Given the description of an element on the screen output the (x, y) to click on. 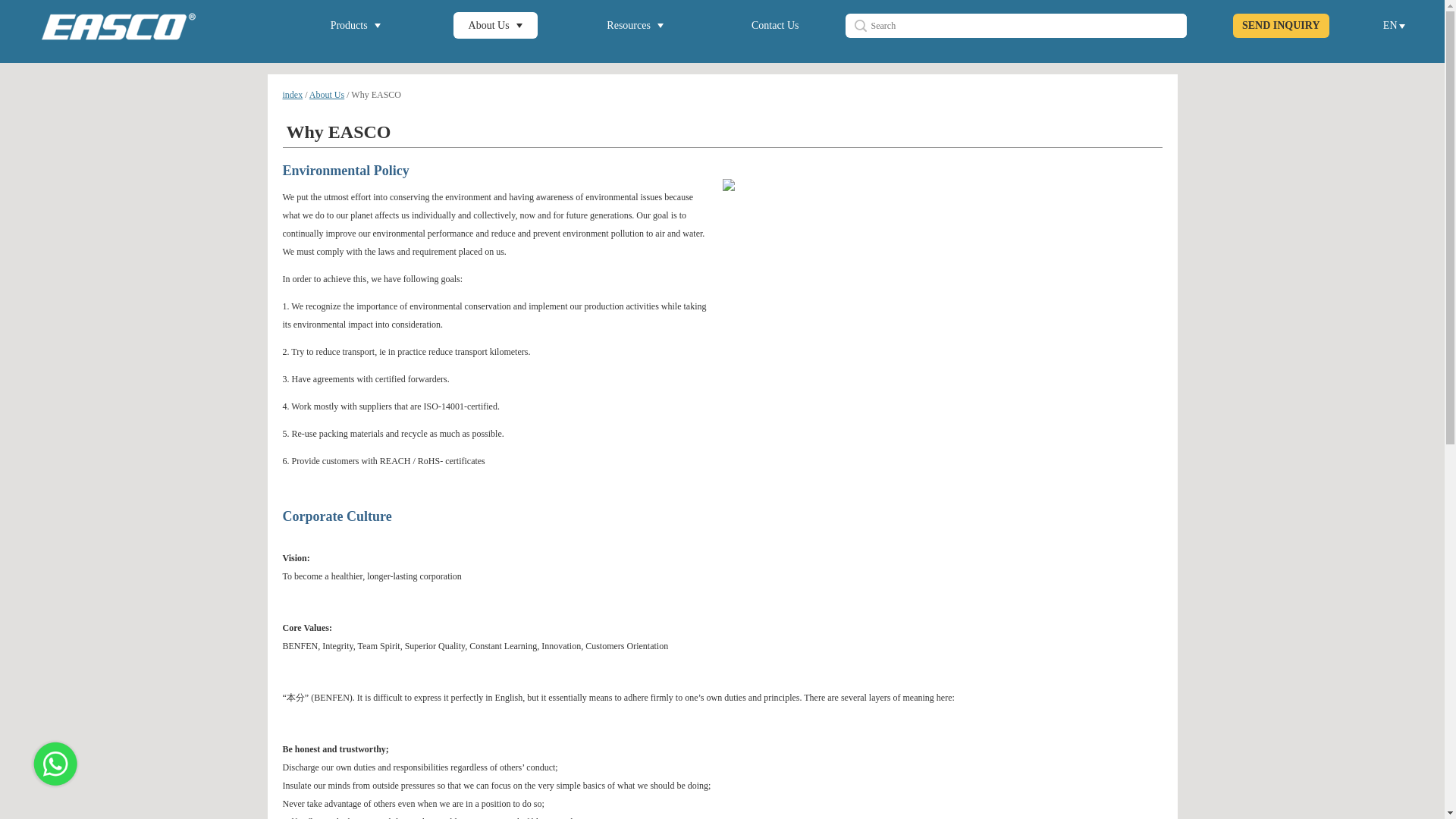
Contact Us (774, 25)
EN (1394, 25)
SEND INQUIRY (1281, 25)
Resources (634, 25)
About Us (494, 25)
Products (355, 25)
